Given the description of an element on the screen output the (x, y) to click on. 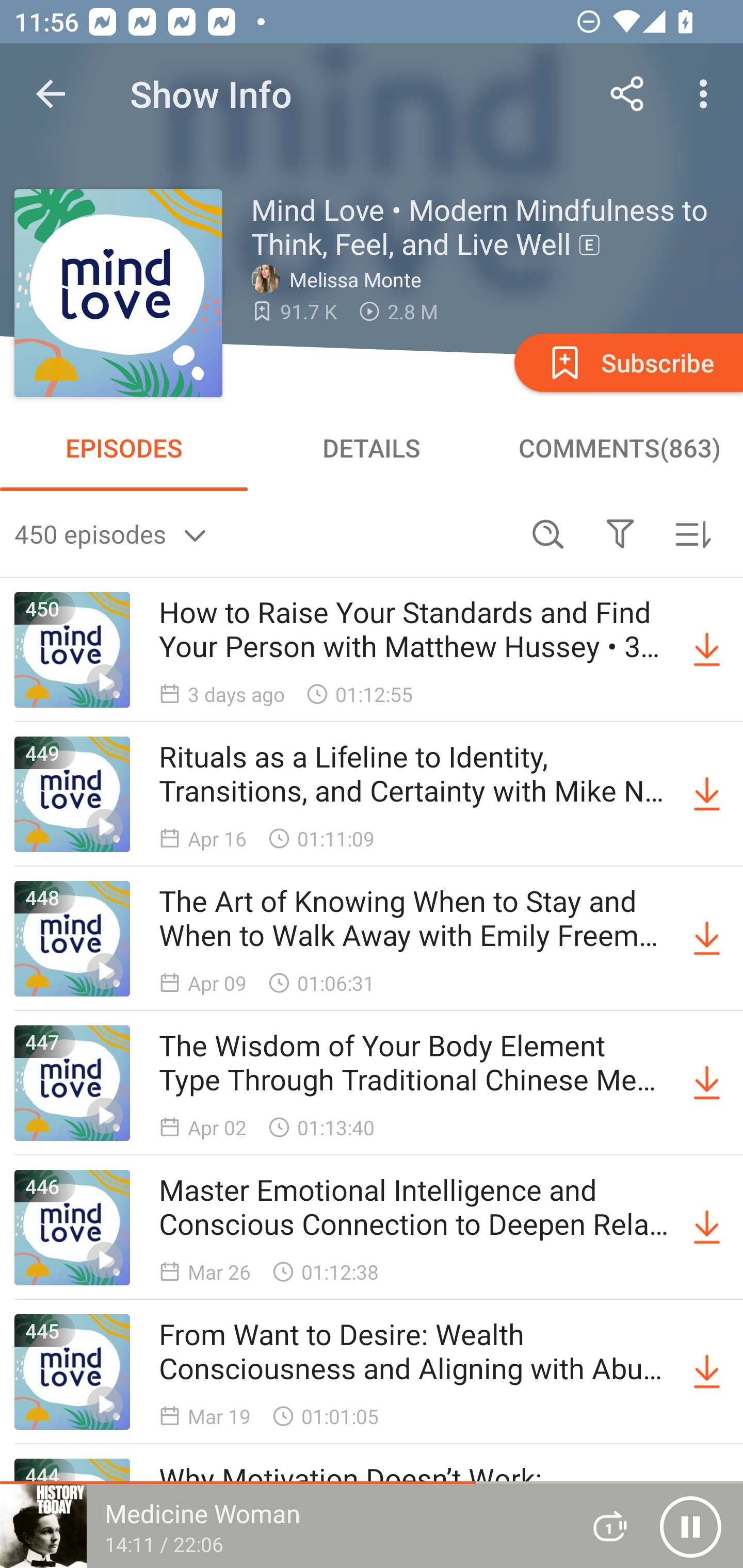
Navigate up (50, 93)
Share (626, 93)
More options (706, 93)
Melissa Monte (340, 278)
Subscribe (627, 361)
EPISODES (123, 447)
DETAILS (371, 447)
COMMENTS(863) (619, 447)
450 episodes  (262, 533)
 Search (547, 533)
 (619, 533)
 Sorted by newest first (692, 533)
Download (706, 649)
Download (706, 793)
Download (706, 939)
Download (706, 1083)
Download (706, 1227)
Download (706, 1371)
Medicine Woman 14:11 / 22:06 (283, 1525)
Pause (690, 1526)
